Given the description of an element on the screen output the (x, y) to click on. 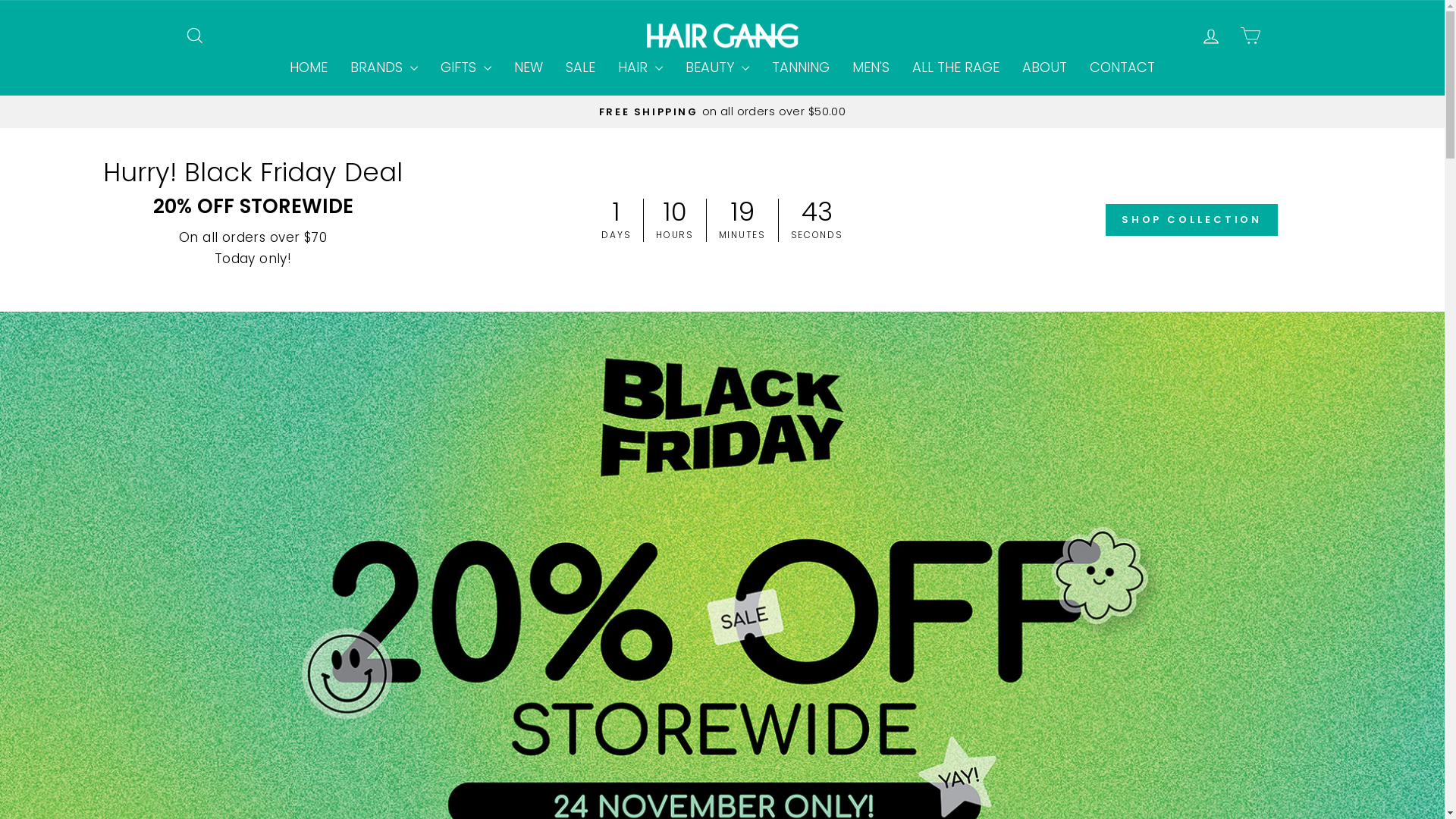
NEW Element type: text (528, 67)
CART Element type: text (1249, 34)
TANNING Element type: text (800, 67)
ALL THE RAGE Element type: text (955, 67)
ABOUT Element type: text (1044, 67)
ACCOUNT
LOG IN Element type: text (1210, 34)
ICON-SEARCH
SEARCH Element type: text (193, 34)
SHOP COLLECTION Element type: text (1191, 219)
SALE Element type: text (580, 67)
MEN'S Element type: text (870, 67)
HOME Element type: text (308, 67)
CONTACT Element type: text (1122, 67)
